Given the description of an element on the screen output the (x, y) to click on. 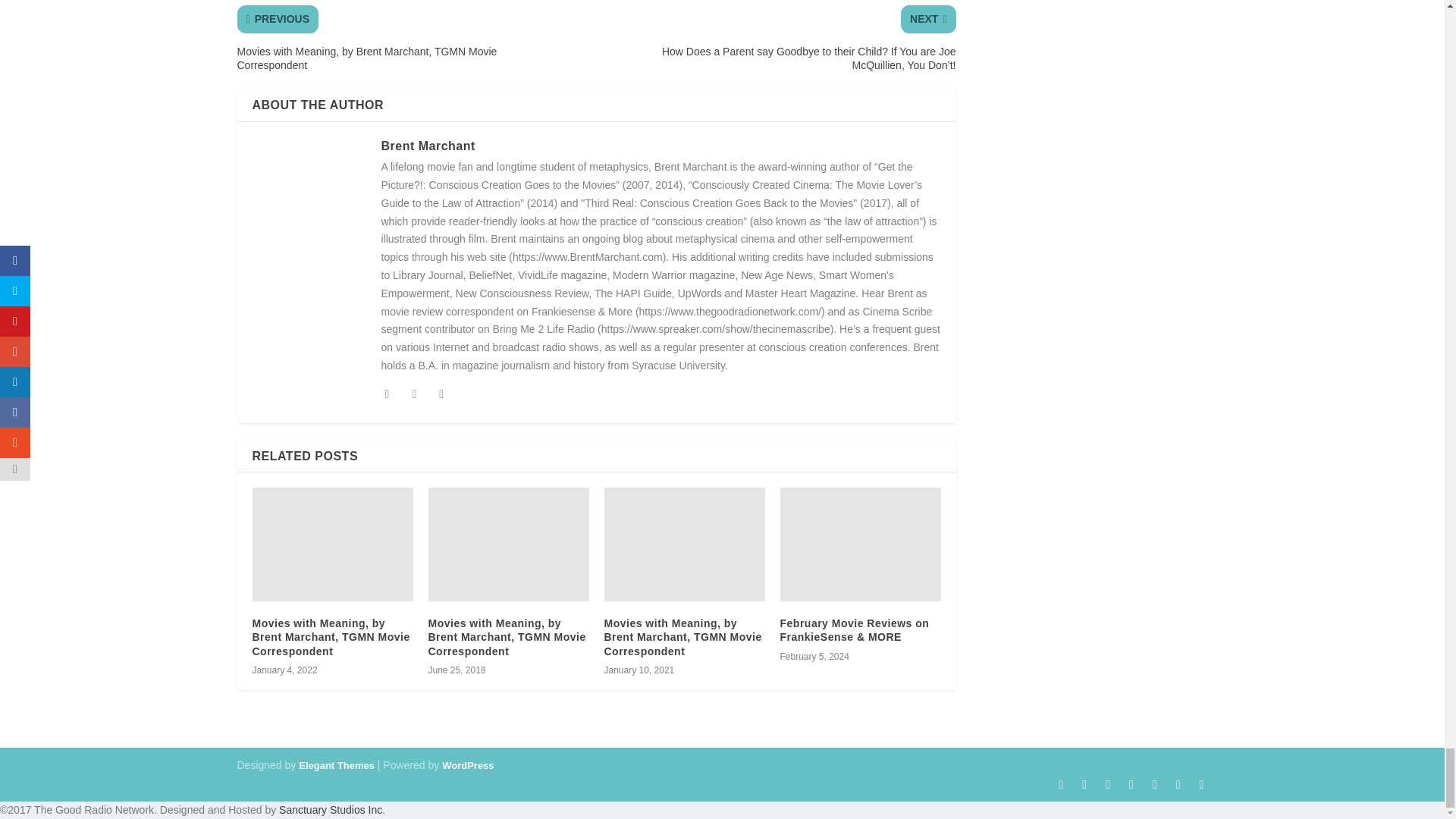
View all posts by Brent Marchant (427, 145)
